Given the description of an element on the screen output the (x, y) to click on. 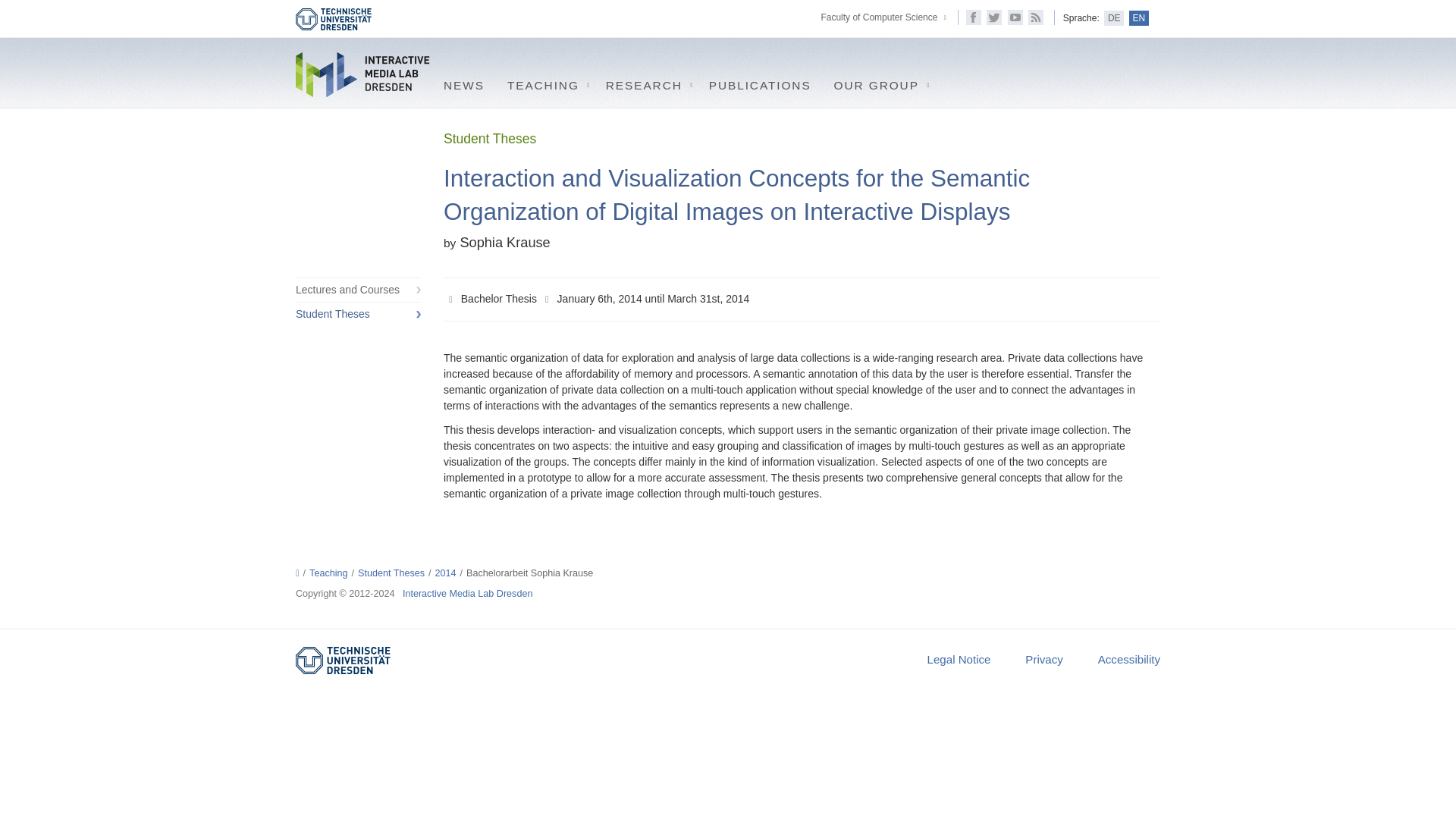
RSS Feeds (1035, 17)
OUR GROUP (878, 82)
Facebook (973, 17)
Twitter (994, 17)
Lectures and Courses (357, 290)
TEACHING (545, 82)
Youtube (1015, 17)
NEWS (464, 82)
PUBLICATIONS (759, 82)
DE (1113, 17)
Interactive Media Lab Dresden (363, 73)
EN (1138, 17)
Faculty of Computer Science (878, 17)
Student Theses (357, 314)
RESEARCH (645, 82)
